Given the description of an element on the screen output the (x, y) to click on. 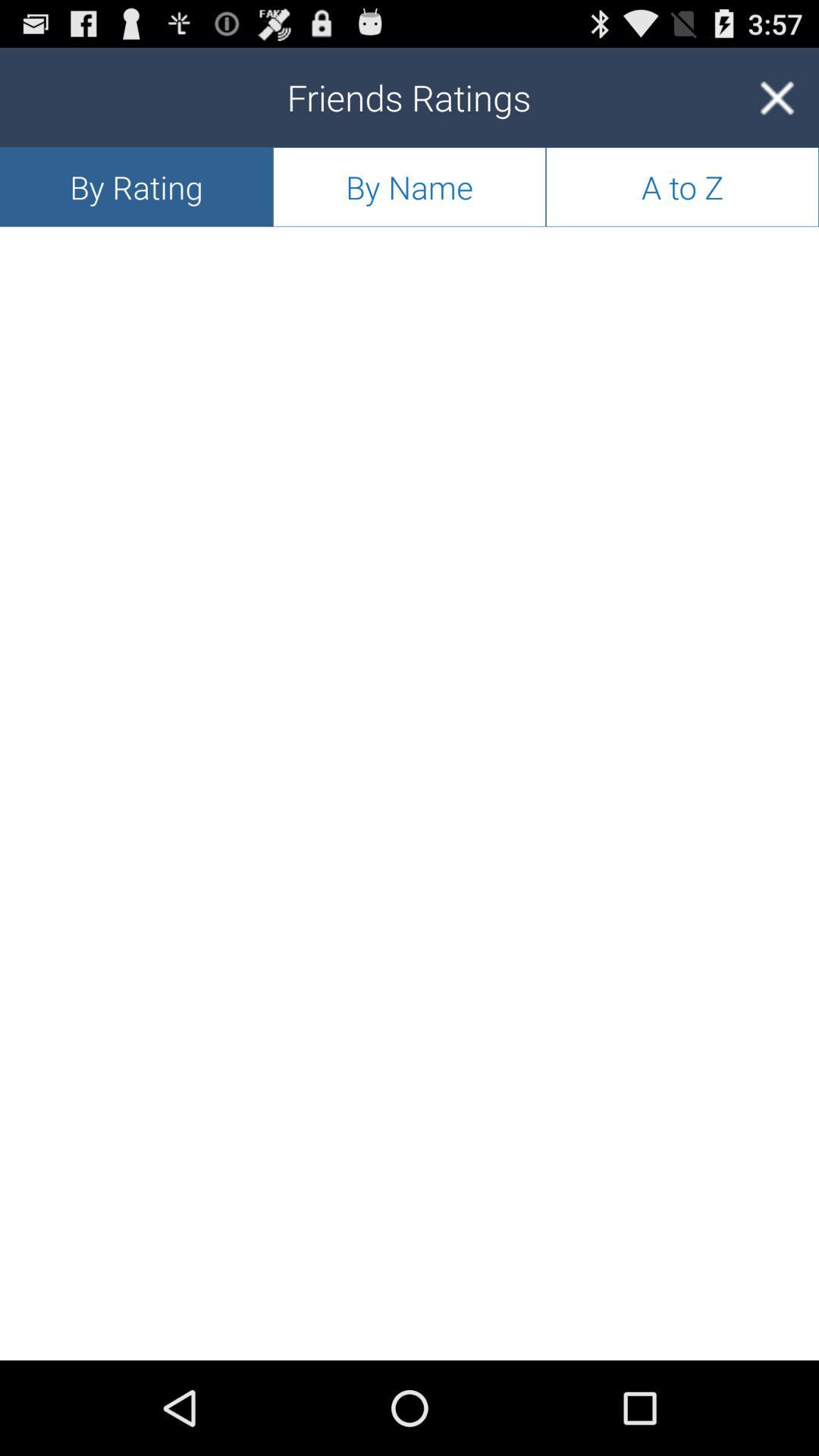
launch icon below friends ratings app (409, 186)
